Given the description of an element on the screen output the (x, y) to click on. 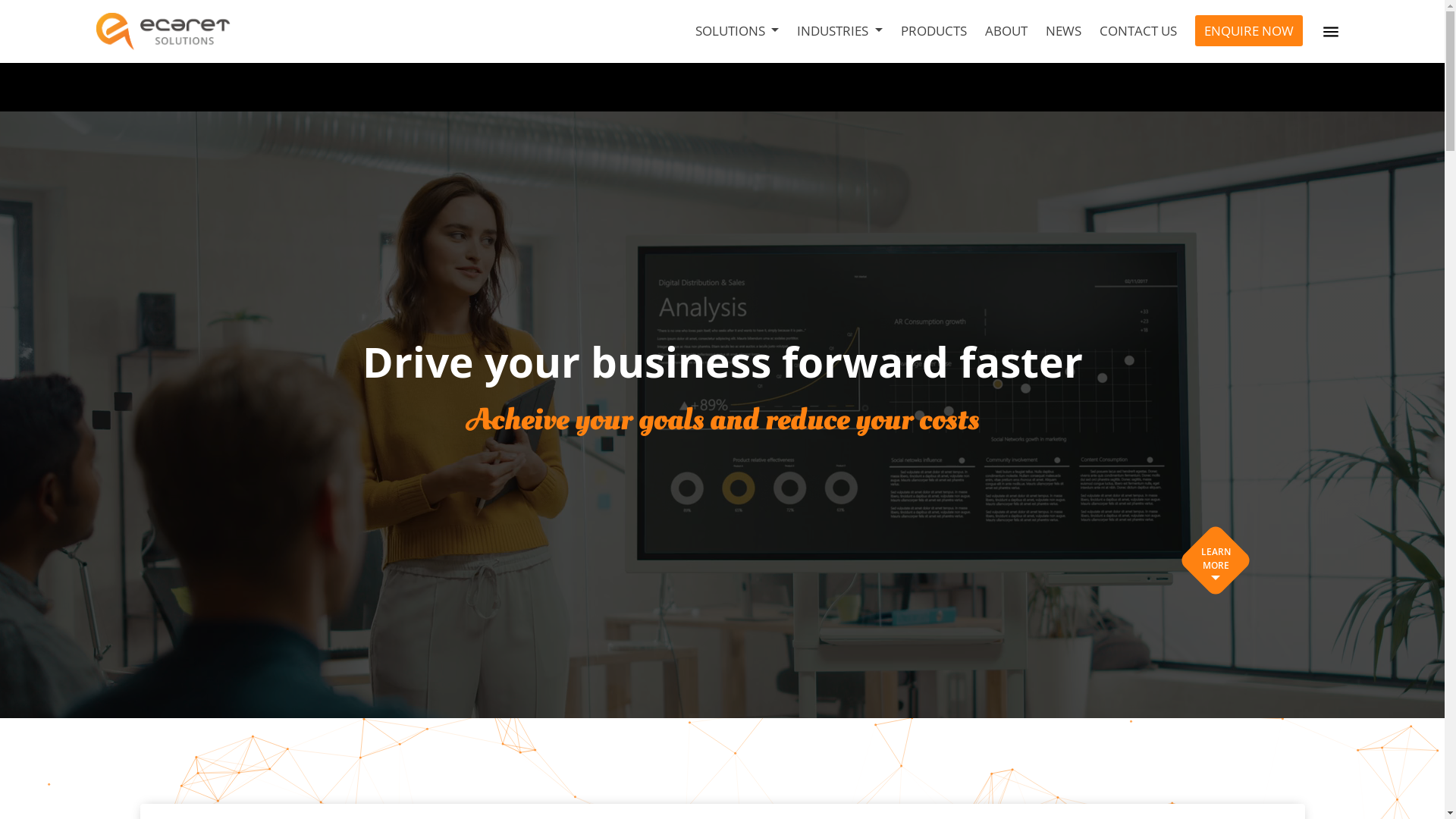
ABOUT Element type: text (1005, 31)
CONTACT US Element type: text (1138, 31)
INDUSTRIES Element type: text (839, 31)
SOLUTIONS Element type: text (736, 31)
ENQUIRE NOW Element type: text (1248, 31)
PRODUCTS Element type: text (933, 31)
NEWS Element type: text (1063, 31)
LEARN
MORE Element type: text (1215, 559)
